Given the description of an element on the screen output the (x, y) to click on. 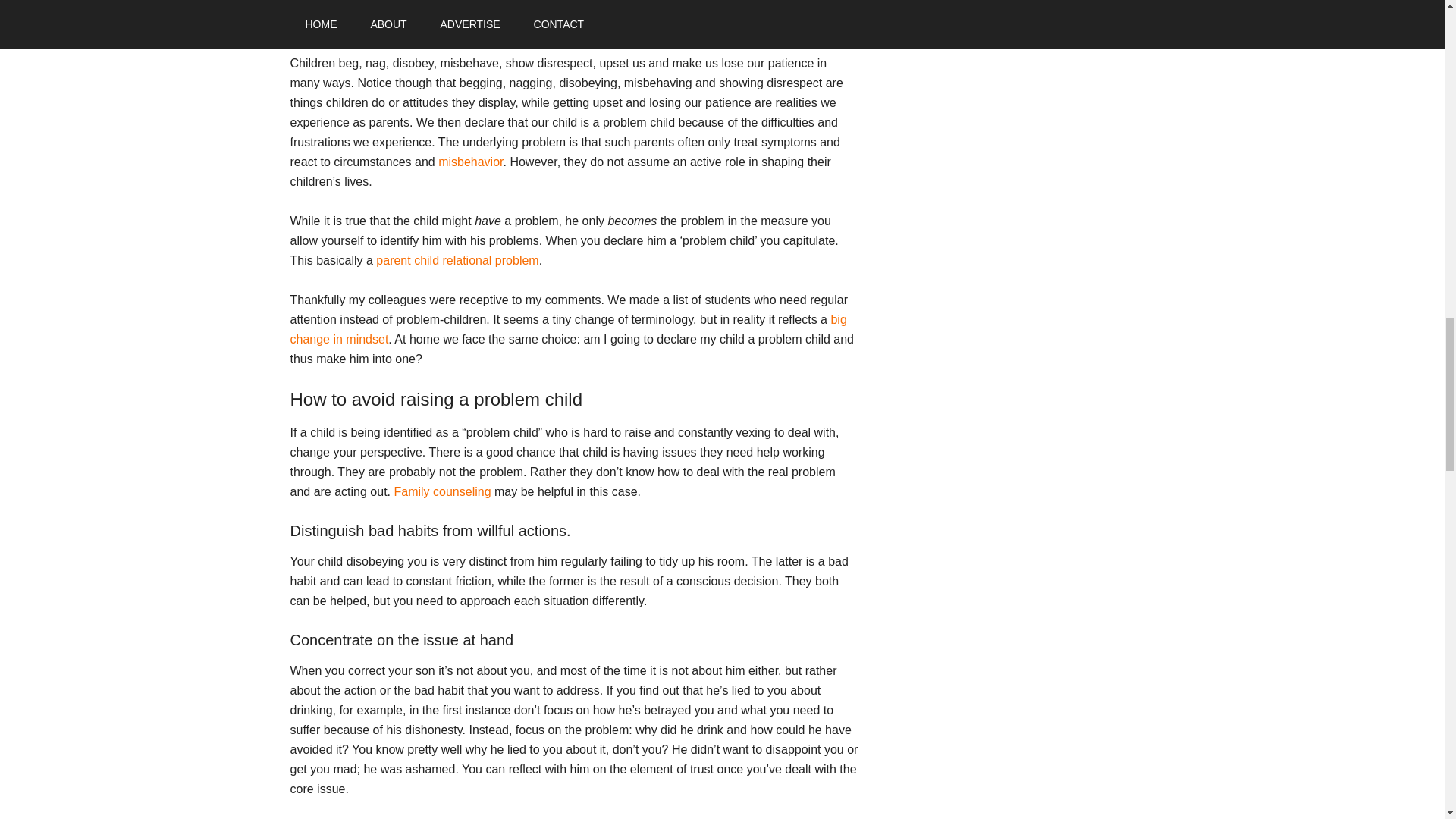
misbehavior (470, 161)
Family counseling (441, 491)
big change in mindset (567, 328)
parent child relational problem (456, 259)
